Given the description of an element on the screen output the (x, y) to click on. 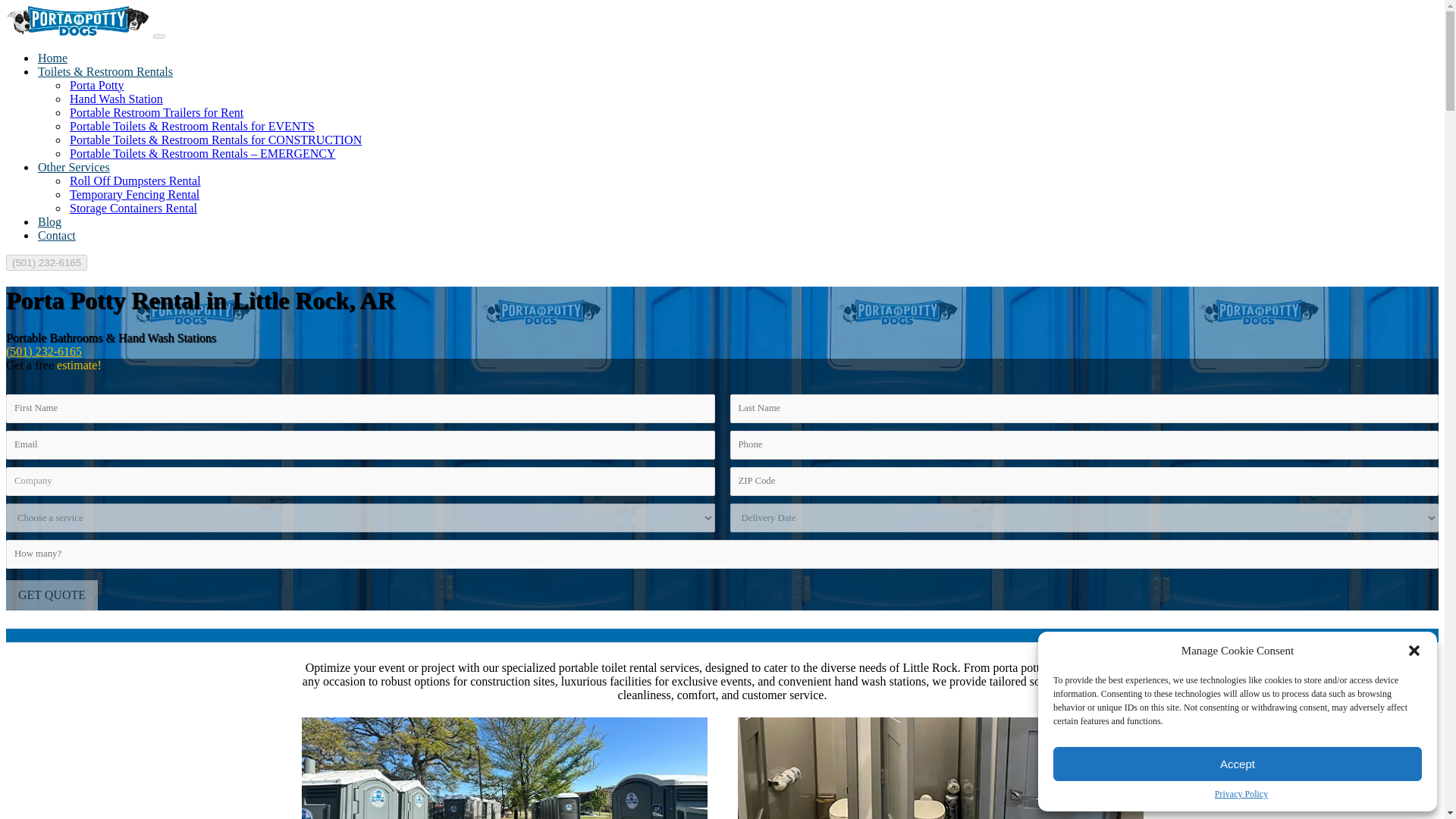
Portable Restroom Trailers for Rent (156, 112)
Home (51, 57)
Porta Potty (96, 84)
Hand Wash Station (116, 98)
GET QUOTE (51, 594)
Roll Off Dumpsters Rental (134, 180)
Portable Restroom Trailers for Rent (156, 112)
Home (51, 57)
Privacy Policy (1241, 794)
Blog (49, 221)
Porta Potty (96, 84)
Temporary Fencing Rental (134, 194)
Storage Containers Rental (132, 207)
Other Services (73, 166)
Contact (56, 235)
